Given the description of an element on the screen output the (x, y) to click on. 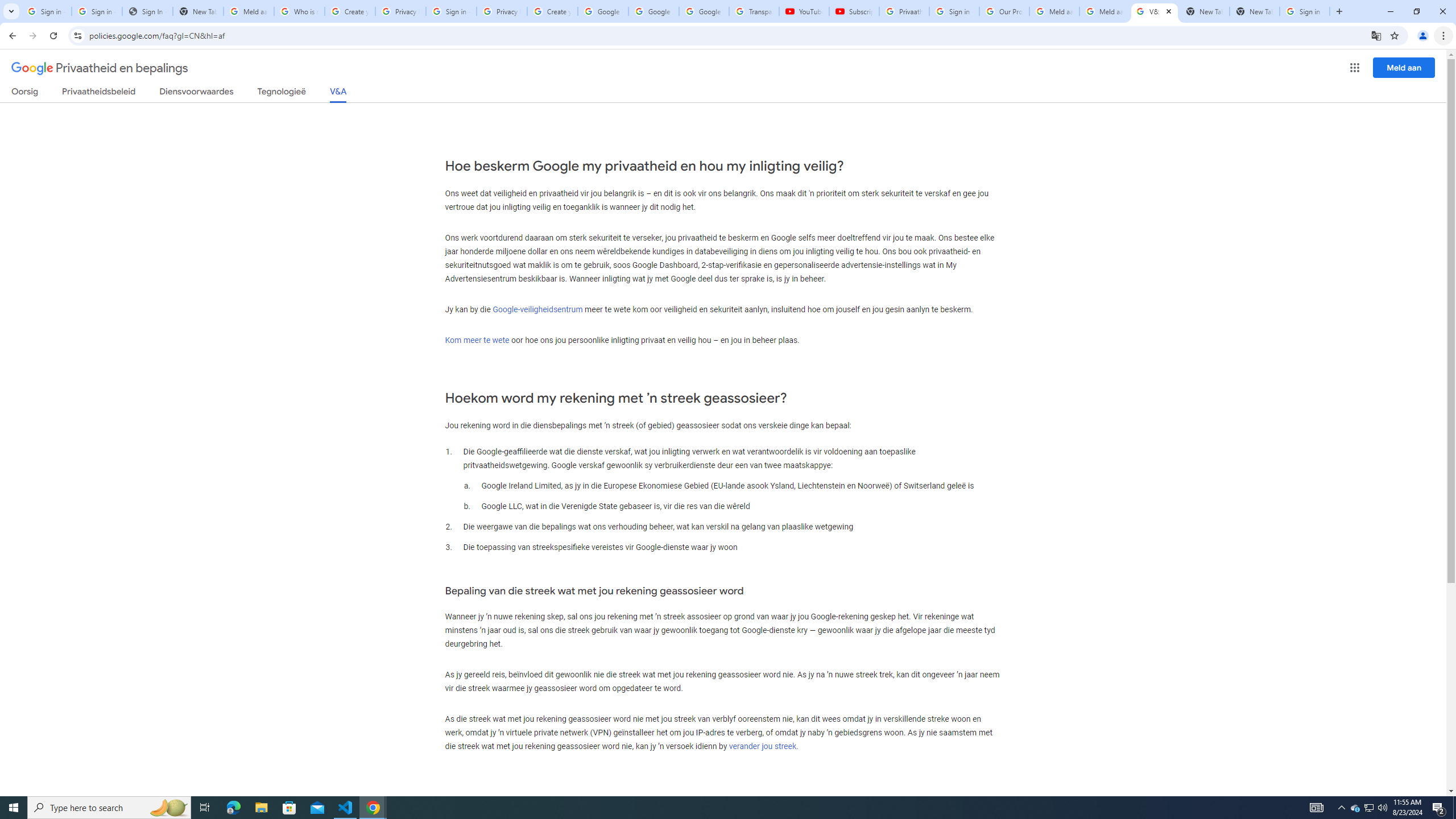
Google Account (703, 11)
Diensvoorwaardes (196, 93)
Meld aan (1404, 67)
Sign in - Google Accounts (46, 11)
Oorsig (25, 93)
